Given the description of an element on the screen output the (x, y) to click on. 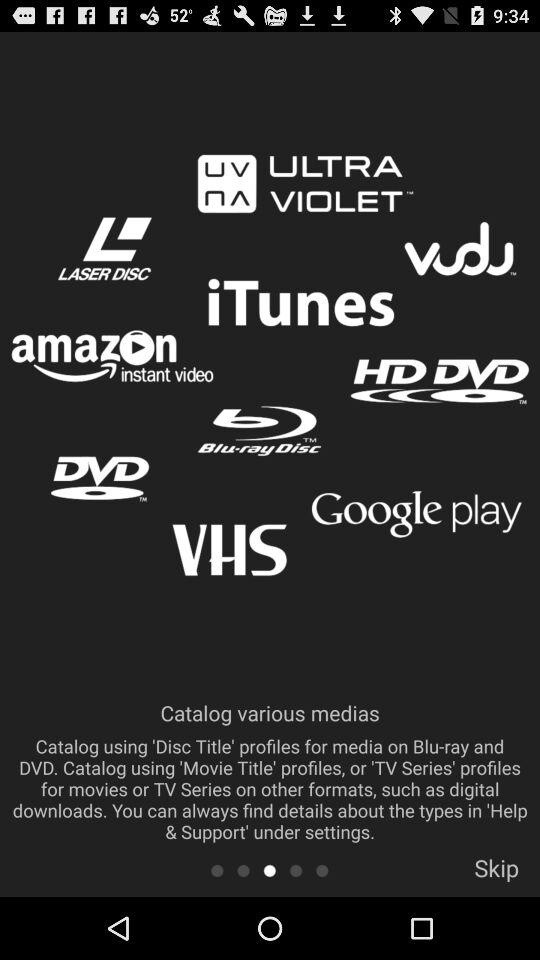
tap the icon to the left of the skip icon (321, 870)
